Given the description of an element on the screen output the (x, y) to click on. 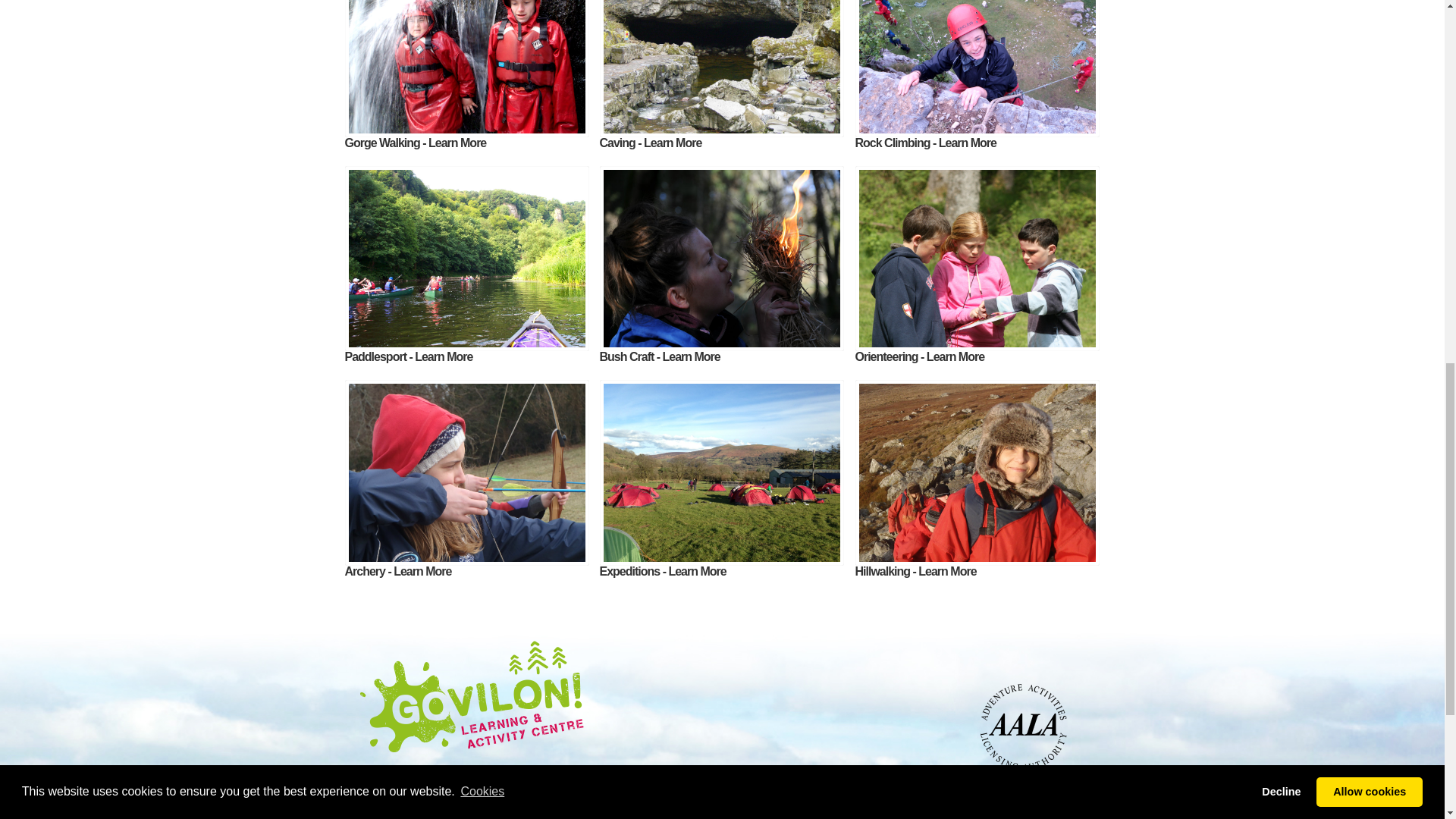
Gorge Walking - Learn More (414, 142)
Adventure Activities Licensing Authority (972, 726)
